Given the description of an element on the screen output the (x, y) to click on. 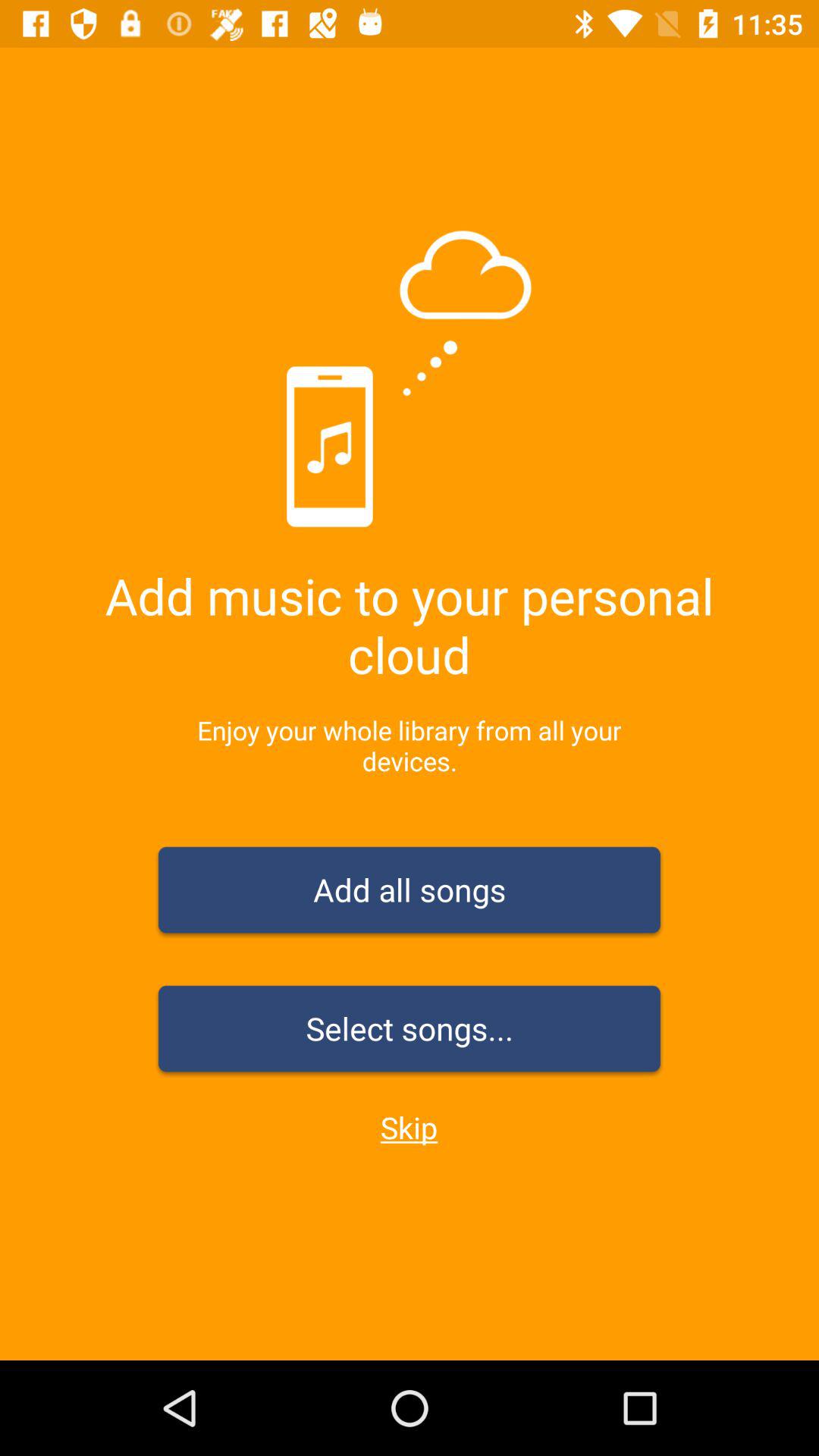
turn on the icon below the add all songs icon (409, 1031)
